Given the description of an element on the screen output the (x, y) to click on. 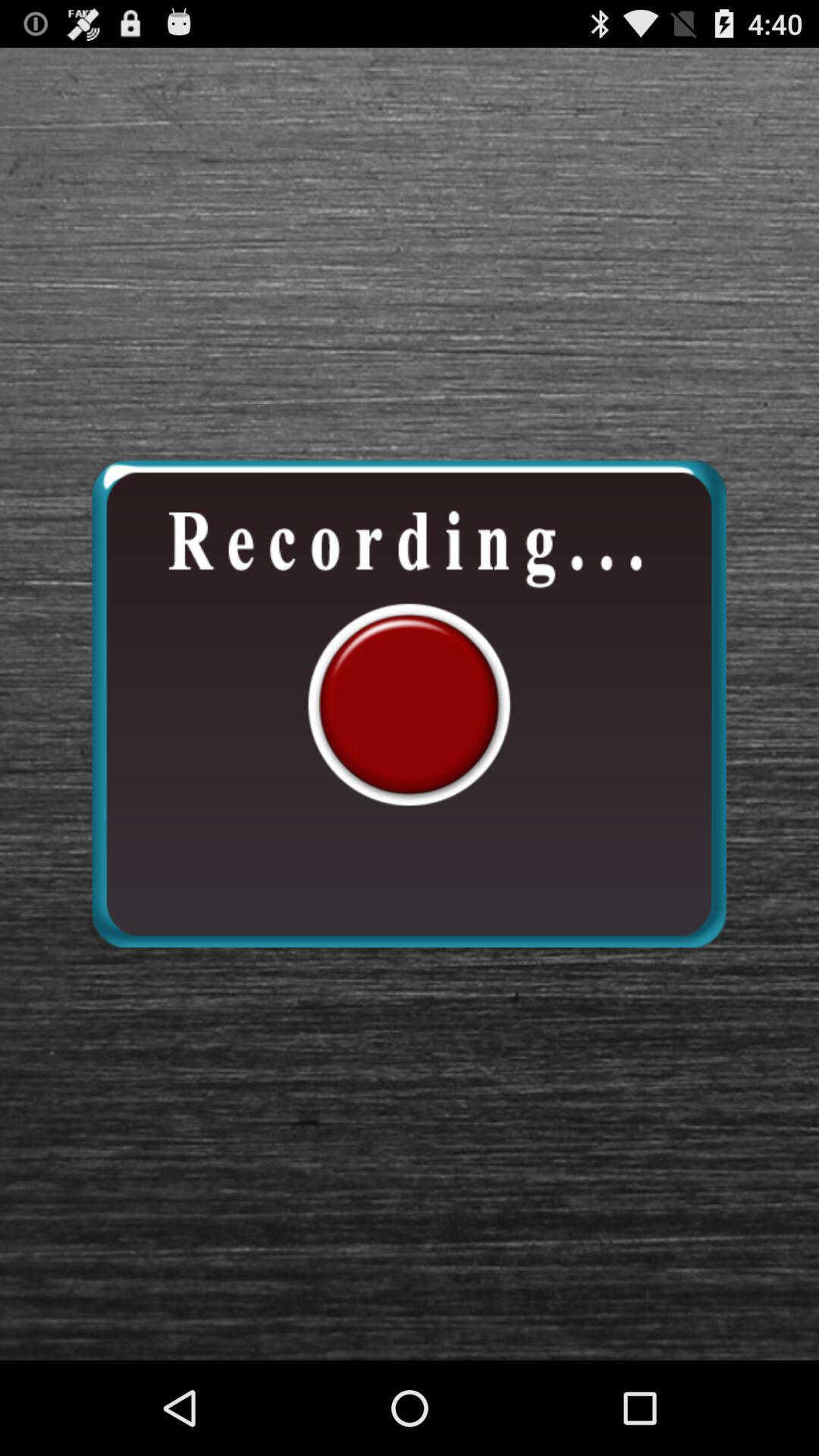
recording indicator (409, 703)
